Given the description of an element on the screen output the (x, y) to click on. 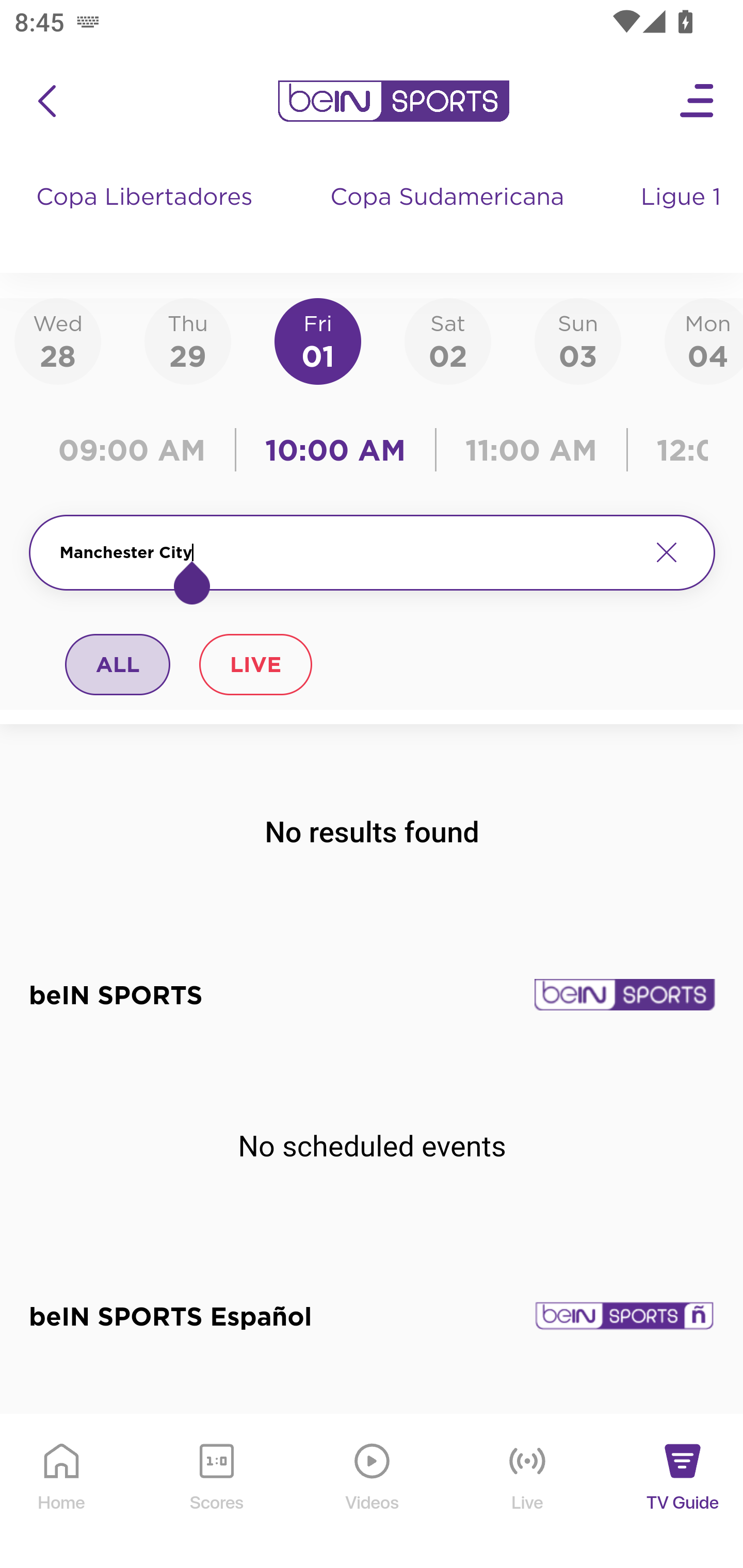
en-us?platform=mobile_android bein logo (392, 101)
icon back (46, 101)
Open Menu Icon (697, 101)
Copa Libertadores (146, 216)
Copa Sudamericana (448, 216)
Ligue 1 (682, 216)
Wed28 (58, 340)
Thu29 (187, 340)
Fri01 (318, 340)
Sat02 (447, 340)
Sun03 (578, 340)
Mon04 (703, 340)
09:00 AM (136, 449)
10:00 AM (335, 449)
11:00 AM (531, 449)
Manchester City (346, 552)
ALL (118, 663)
LIVE (255, 663)
Home Home Icon Home (61, 1491)
Scores Scores Icon Scores (216, 1491)
Videos Videos Icon Videos (372, 1491)
TV Guide TV Guide Icon TV Guide (682, 1491)
